Given the description of an element on the screen output the (x, y) to click on. 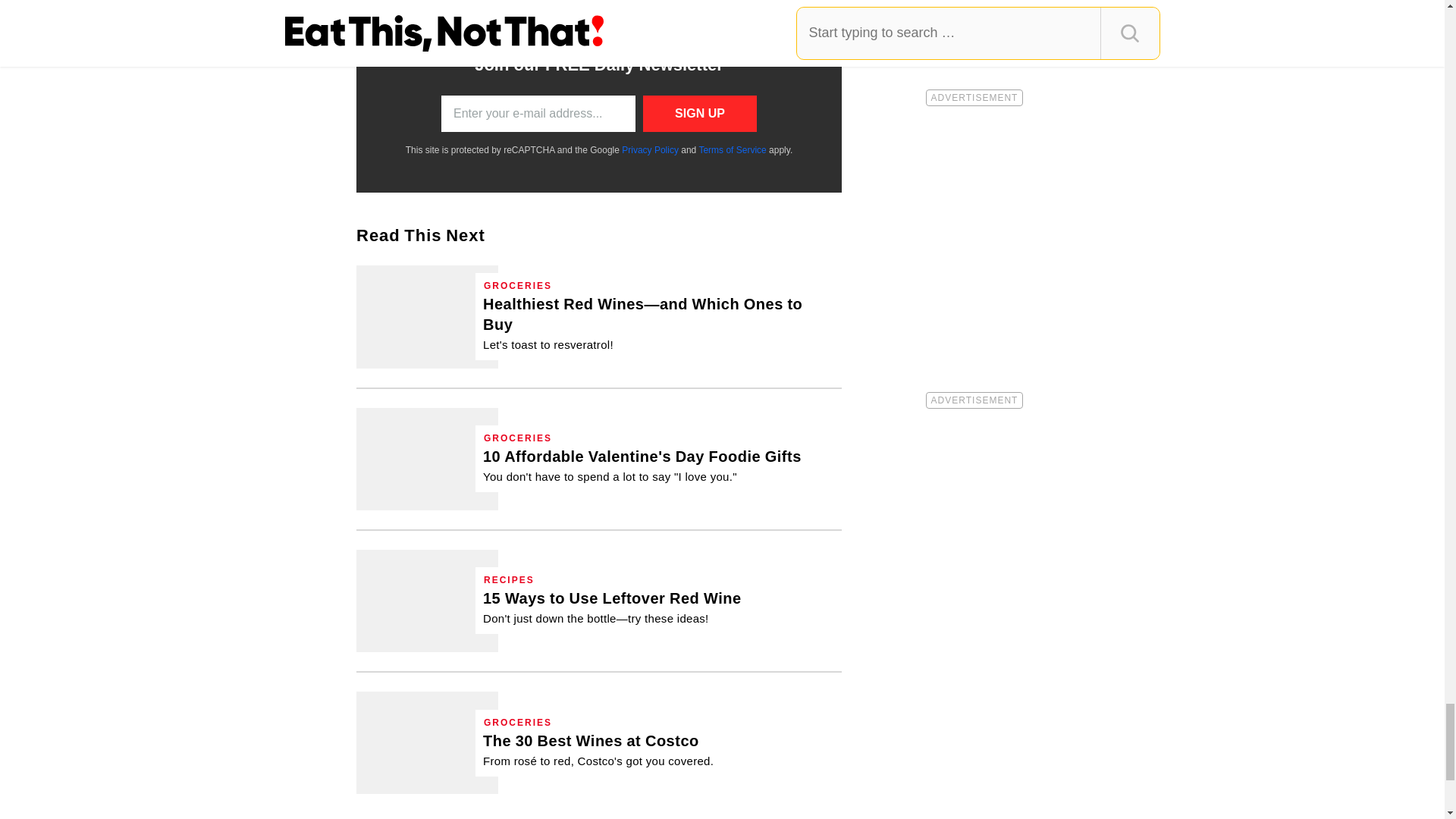
15 Clever Ways to Use Leftover Red Wine (426, 600)
30 Best Wines You Can Buy at Costco (598, 750)
15 Clever Ways to Use Leftover Red Wine (612, 607)
30 Best Wines You Can Buy at Costco (426, 742)
